Given the description of an element on the screen output the (x, y) to click on. 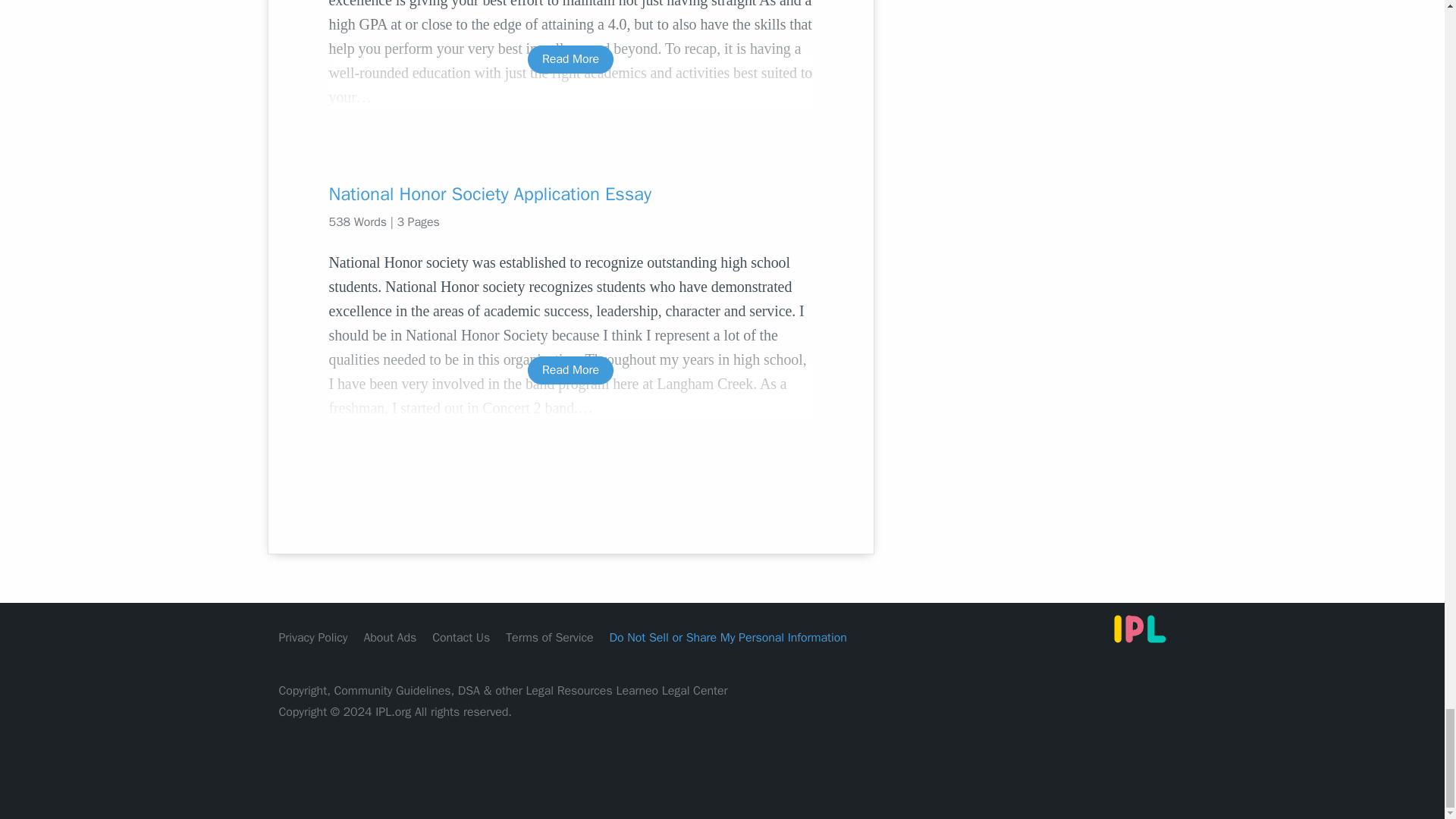
About Ads (389, 637)
Terms of Service (548, 637)
Privacy Policy (313, 637)
Contact Us (460, 637)
